Given the description of an element on the screen output the (x, y) to click on. 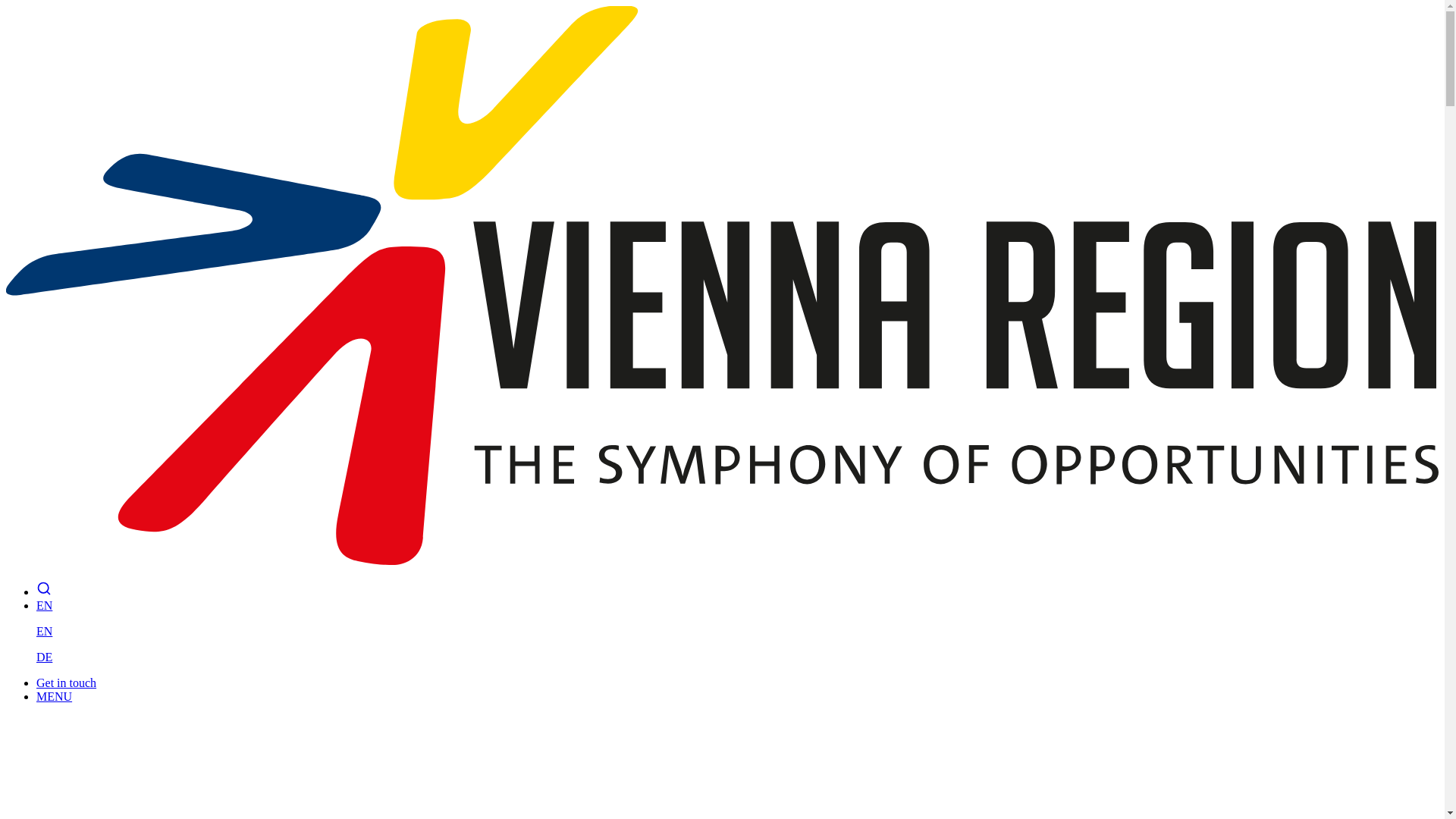
Contact us now. (66, 682)
Get in touch (66, 682)
EN (44, 604)
